Given the description of an element on the screen output the (x, y) to click on. 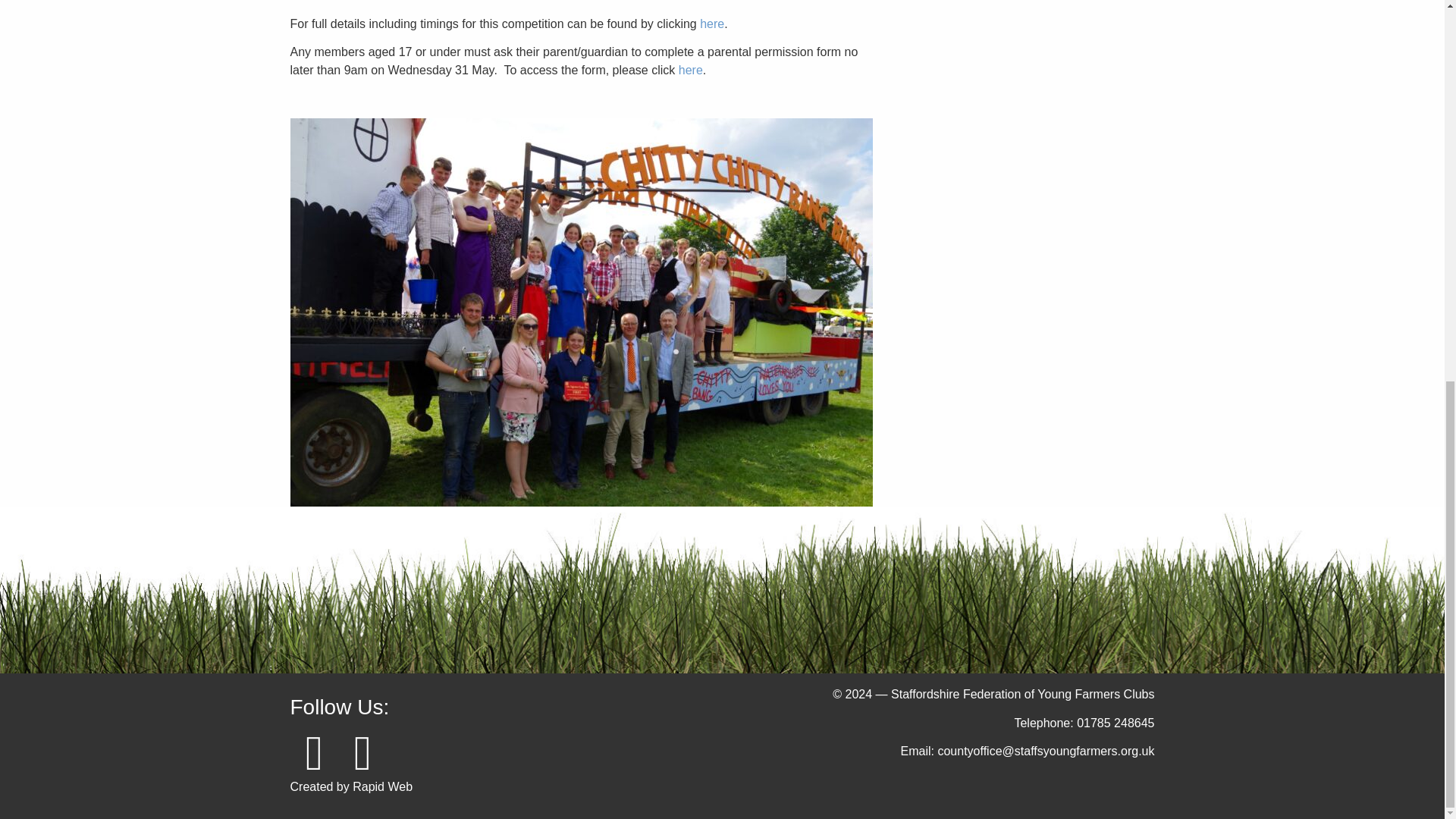
here (711, 23)
Created by Rapid Web (350, 786)
here (690, 69)
